Given the description of an element on the screen output the (x, y) to click on. 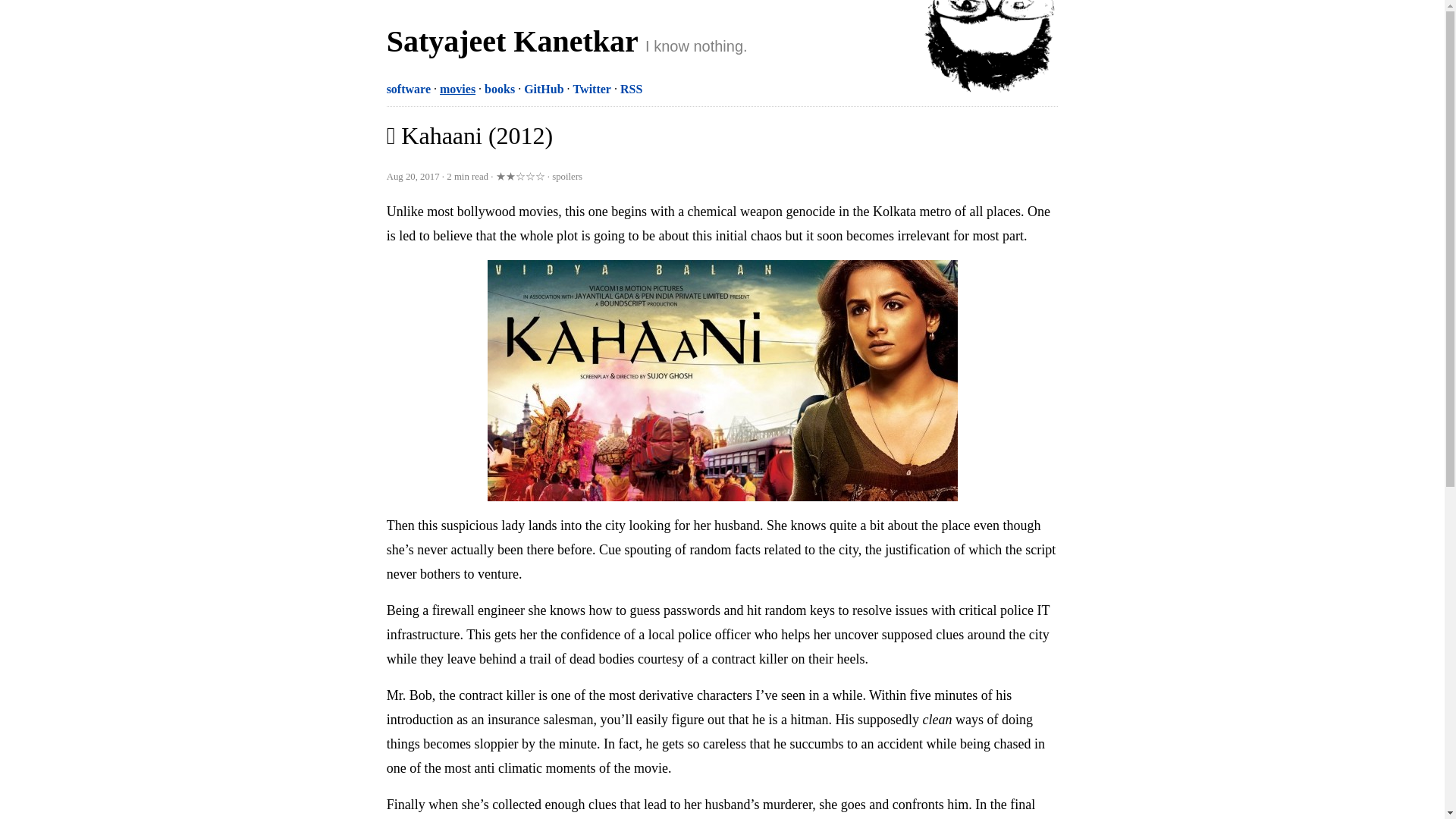
books (499, 88)
software (408, 88)
movies (457, 88)
GitHub (543, 88)
Satyajeet Kanetkar (512, 41)
393 words at 265 WPM (468, 176)
Twitter (592, 88)
Satyajeet Kanetkar (989, 48)
RSS (631, 88)
